Given the description of an element on the screen output the (x, y) to click on. 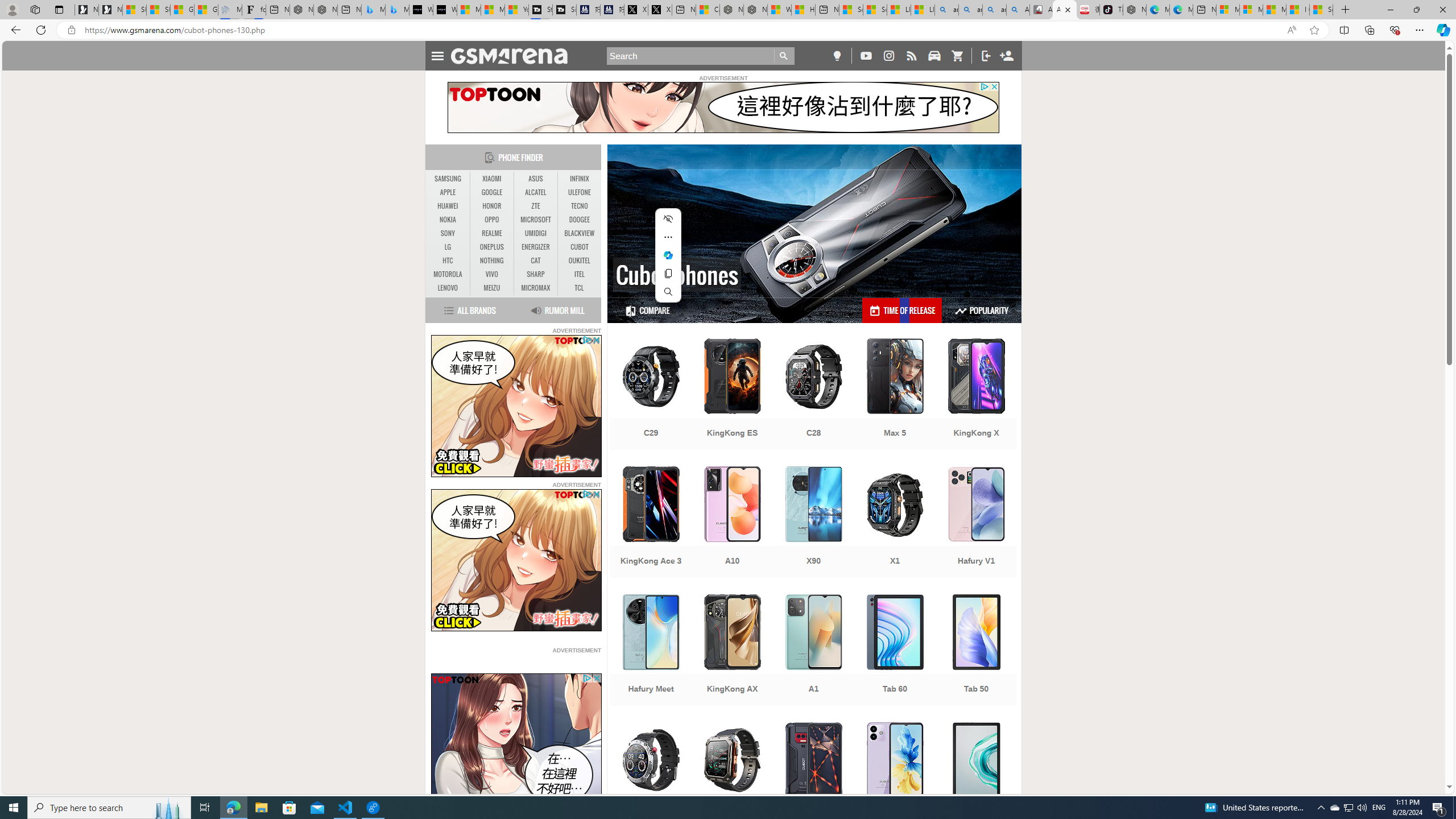
APPLE (448, 192)
C29 (650, 395)
ALCATEL (535, 192)
Copy (668, 273)
OUKITEL (579, 260)
REALME (491, 233)
Microsoft Start (1274, 9)
HONOR (491, 206)
